Given the description of an element on the screen output the (x, y) to click on. 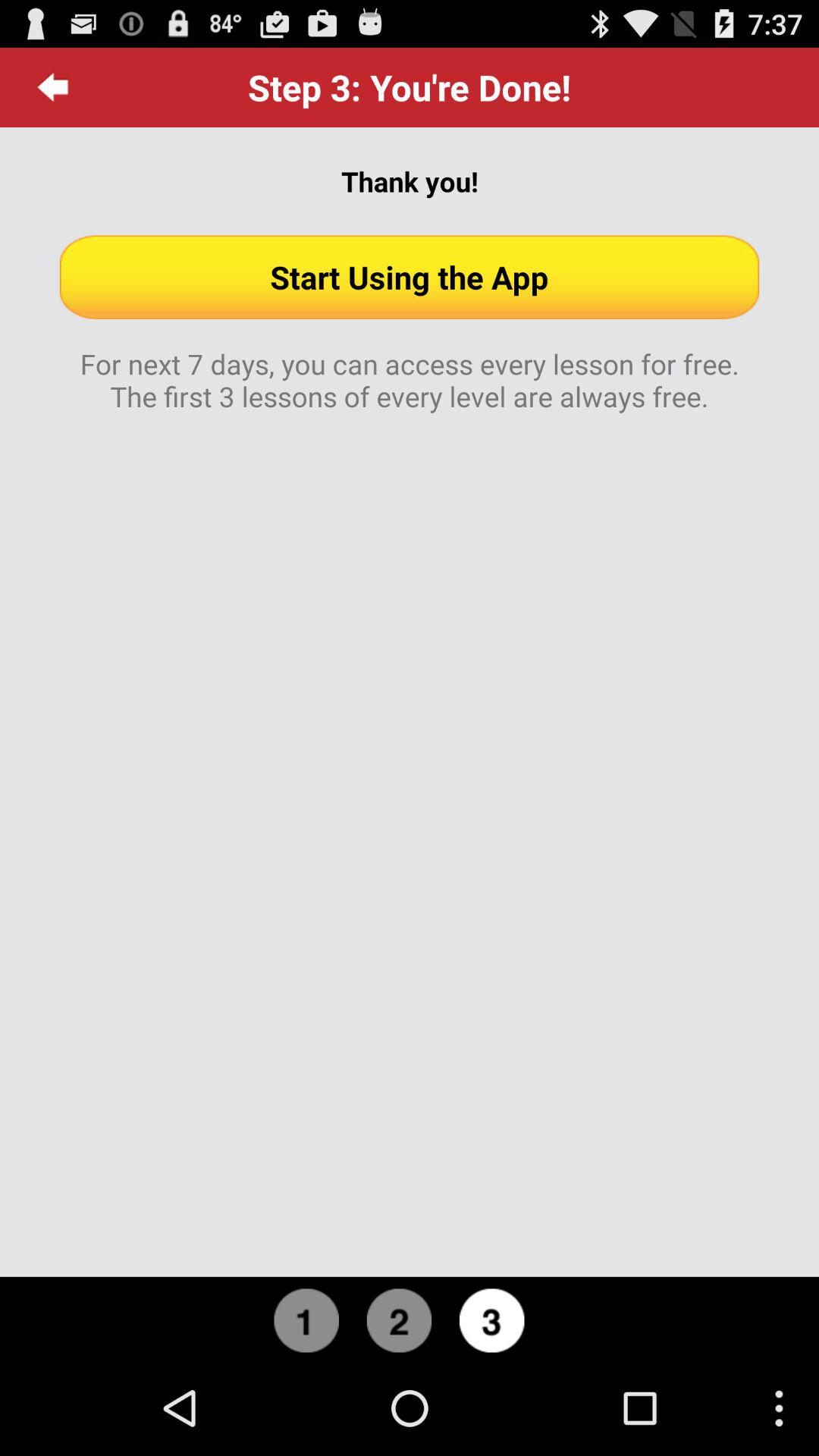
choose the icon at the top left corner (53, 87)
